Given the description of an element on the screen output the (x, y) to click on. 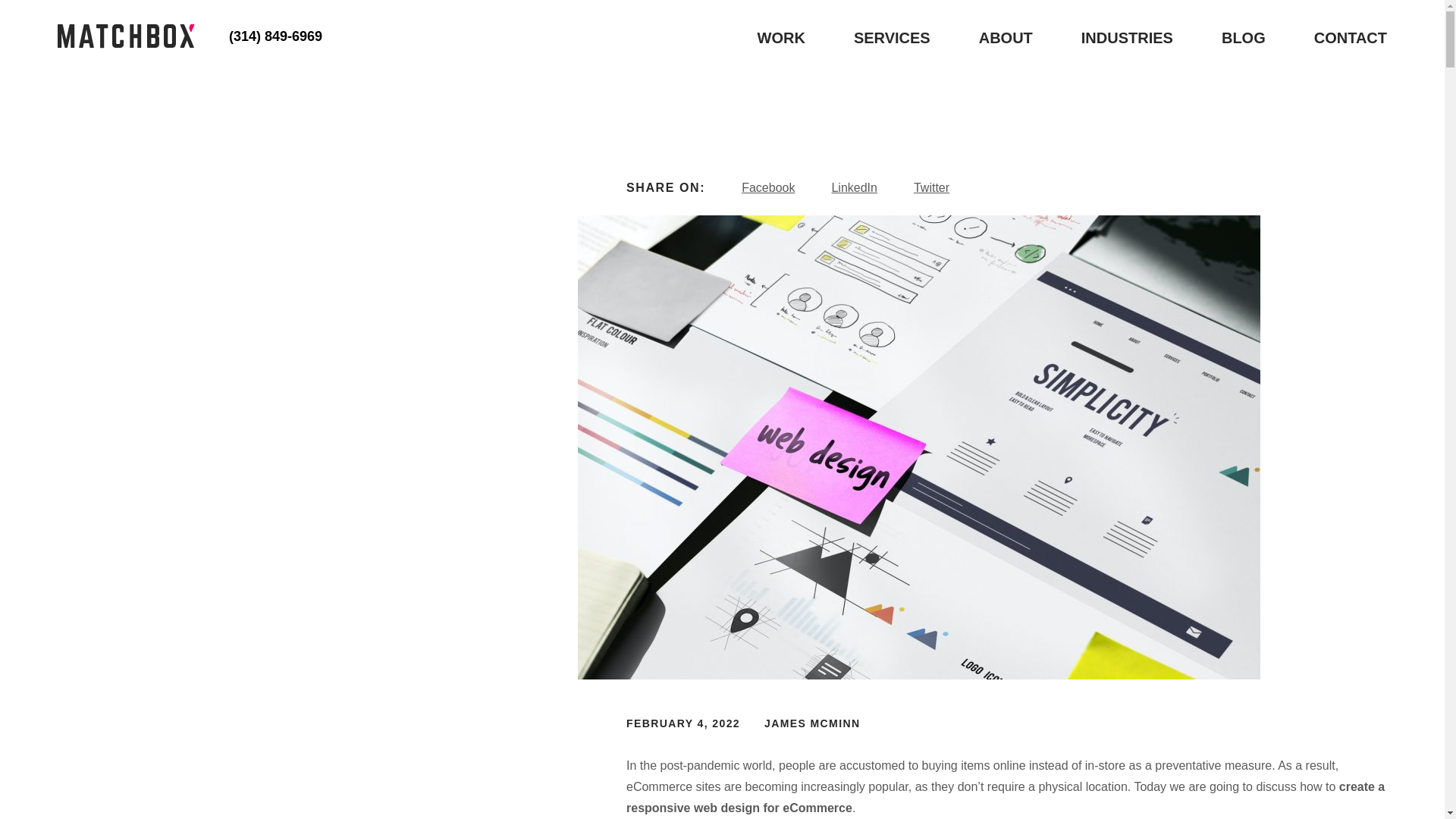
Facebook (767, 187)
INDUSTRIES (1127, 37)
WORK (781, 37)
LinkedIn (853, 187)
BLOG (1243, 37)
SERVICES (891, 37)
Twitter (931, 187)
CONTACT (1350, 37)
ABOUT (1005, 37)
